Given the description of an element on the screen output the (x, y) to click on. 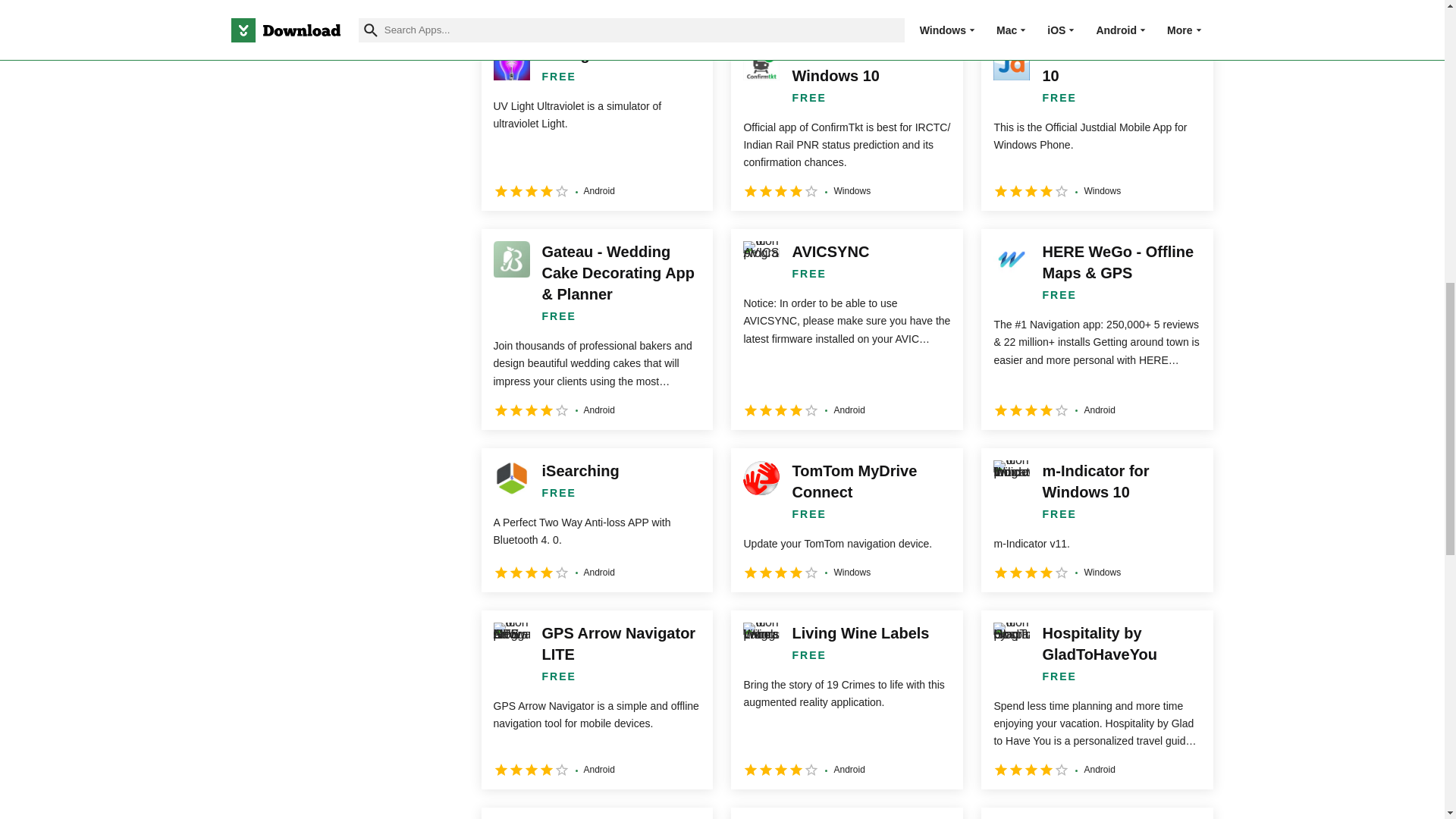
UV Light (596, 120)
AVICSYNC (846, 329)
Microsoft Streets and Trips (596, 6)
iSearching (596, 519)
TomTom MyDrive Connect (846, 519)
Living Wine Labels (846, 699)
m-Indicator for Windows 10 (1096, 519)
OpenCPN (1096, 6)
Justdial for Windows 10 (1096, 120)
GPS Arrow Navigator LITE (596, 699)
